Given the description of an element on the screen output the (x, y) to click on. 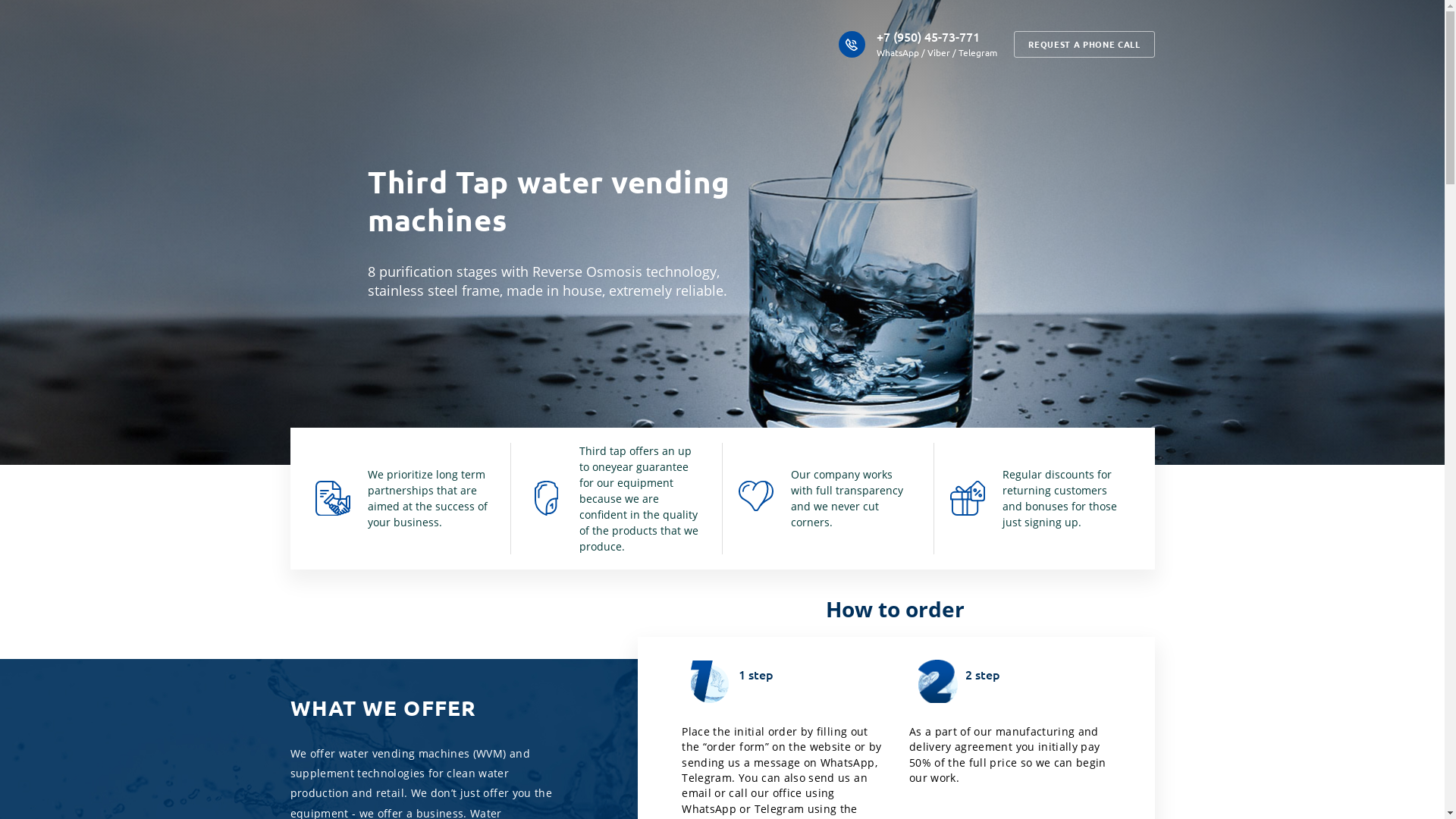
REQUEST A PHONE CALL Element type: text (1083, 44)
+7 (950) 45-73-771 Element type: text (927, 36)
